Given the description of an element on the screen output the (x, y) to click on. 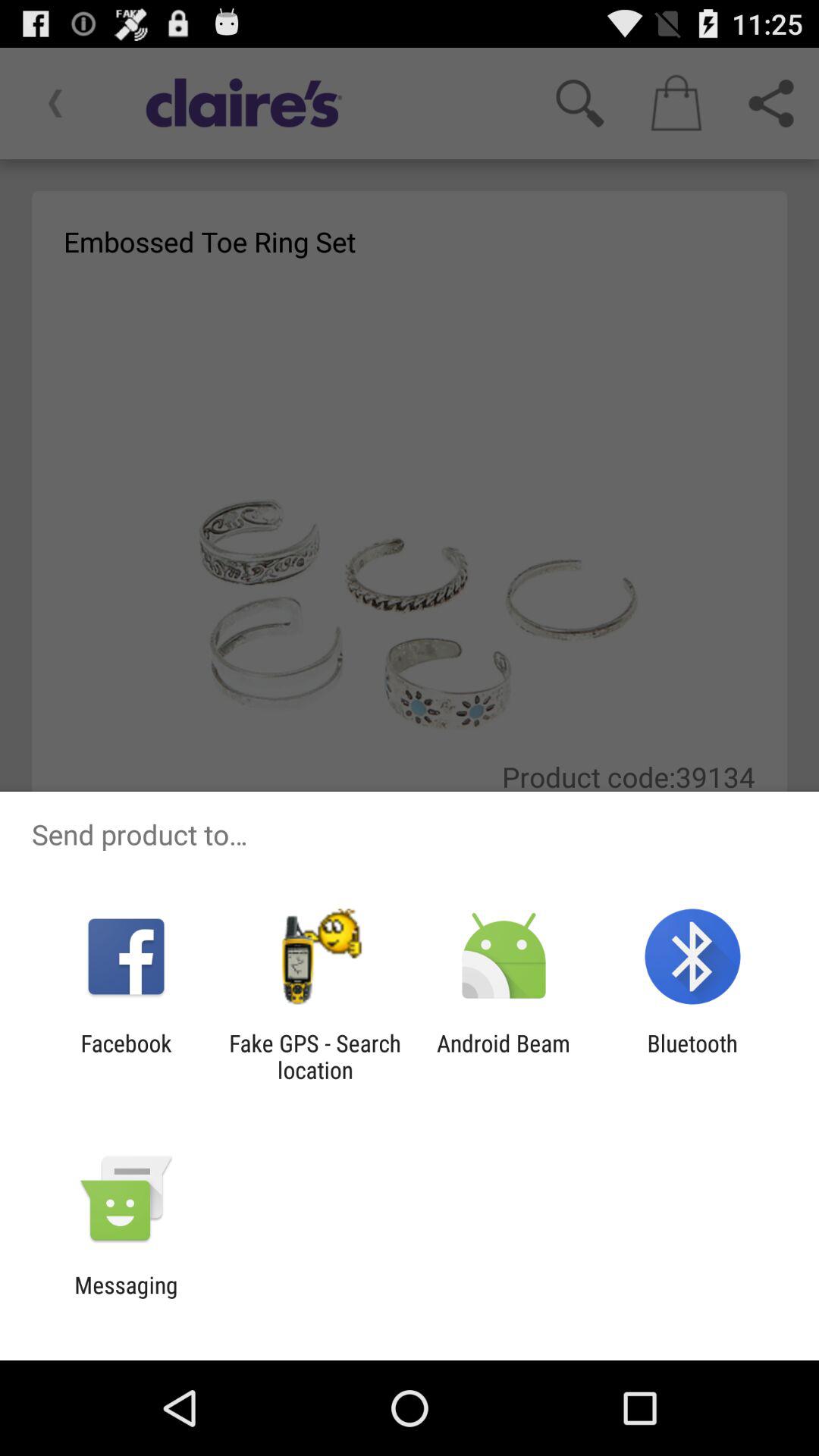
turn on messaging app (126, 1298)
